Given the description of an element on the screen output the (x, y) to click on. 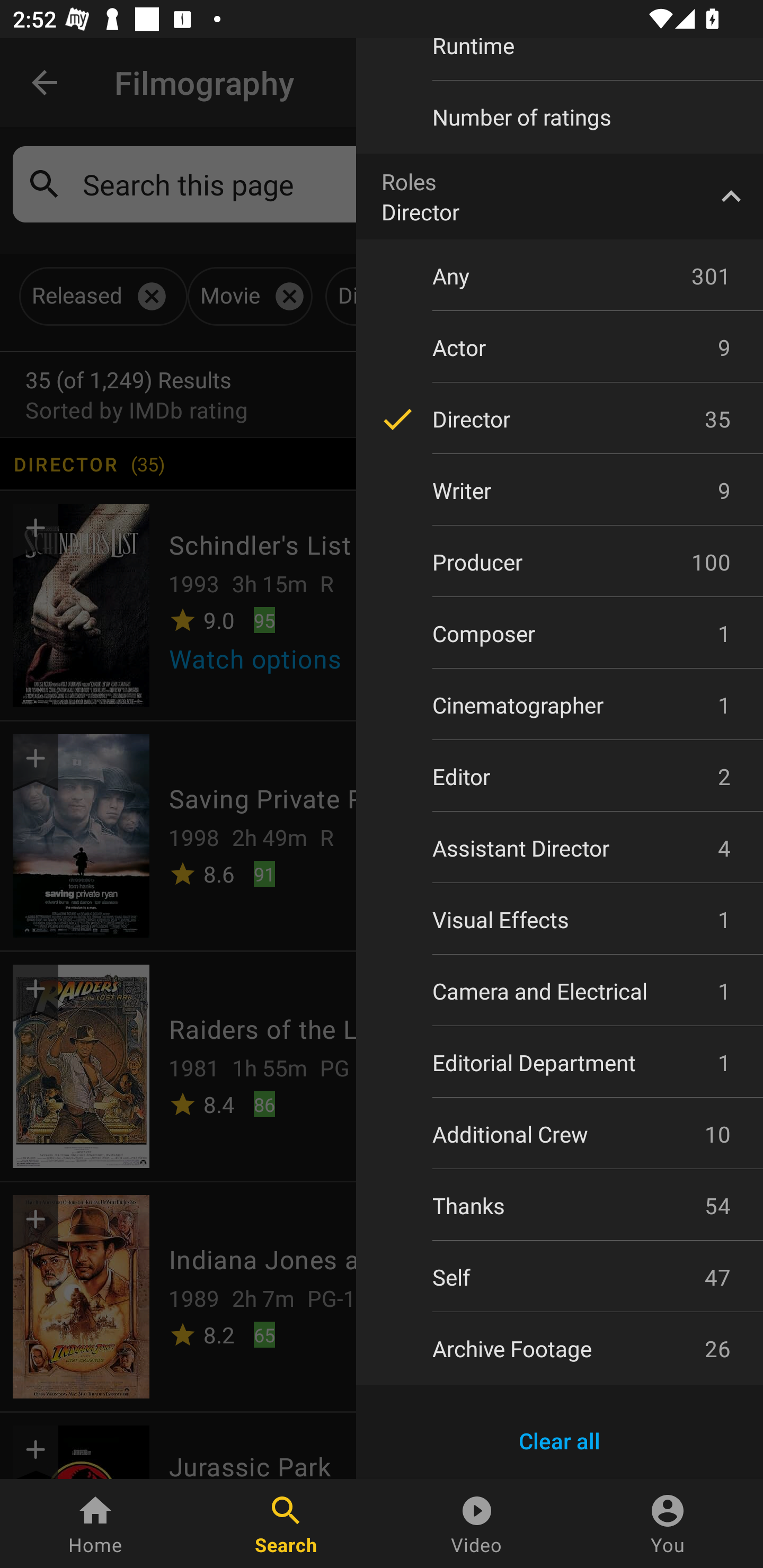
Runtime (559, 58)
Number of ratings (559, 116)
Roles Director (559, 196)
Any 301 (559, 275)
Actor 9 (559, 347)
Director 35 (559, 419)
Writer 9 (559, 490)
Producer 100 (559, 561)
Composer 1 (559, 632)
Cinematographer 1 (559, 704)
Editor 2 (559, 776)
Assistant Director 4 (559, 847)
Visual Effects 1 (559, 919)
Camera and Electrical Department 1 (559, 990)
Editorial Department 1 (559, 1062)
Additional Crew 10 (559, 1134)
Thanks 54 (559, 1205)
Self 47 (559, 1276)
Archive Footage 26 (559, 1347)
Clear all (559, 1440)
Home (95, 1523)
Video (476, 1523)
You (667, 1523)
